Given the description of an element on the screen output the (x, y) to click on. 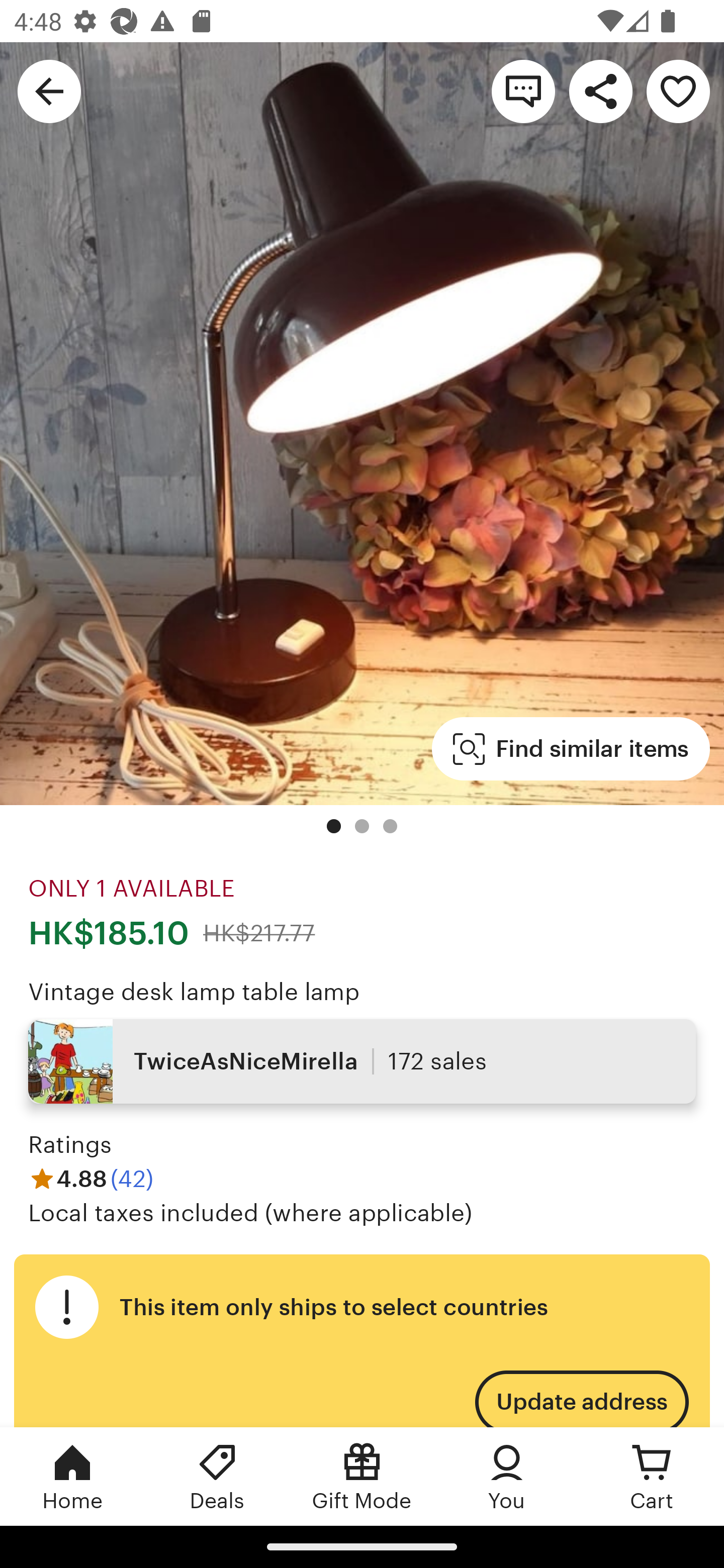
Navigate up (49, 90)
Contact shop (523, 90)
Share (600, 90)
Find similar items (571, 748)
Vintage desk lamp table lamp (193, 991)
TwiceAsNiceMirella 172 sales (361, 1061)
Ratings (70, 1144)
4.88 (42) (90, 1179)
Update address (581, 1392)
Deals (216, 1475)
Gift Mode (361, 1475)
You (506, 1475)
Cart (651, 1475)
